Given the description of an element on the screen output the (x, y) to click on. 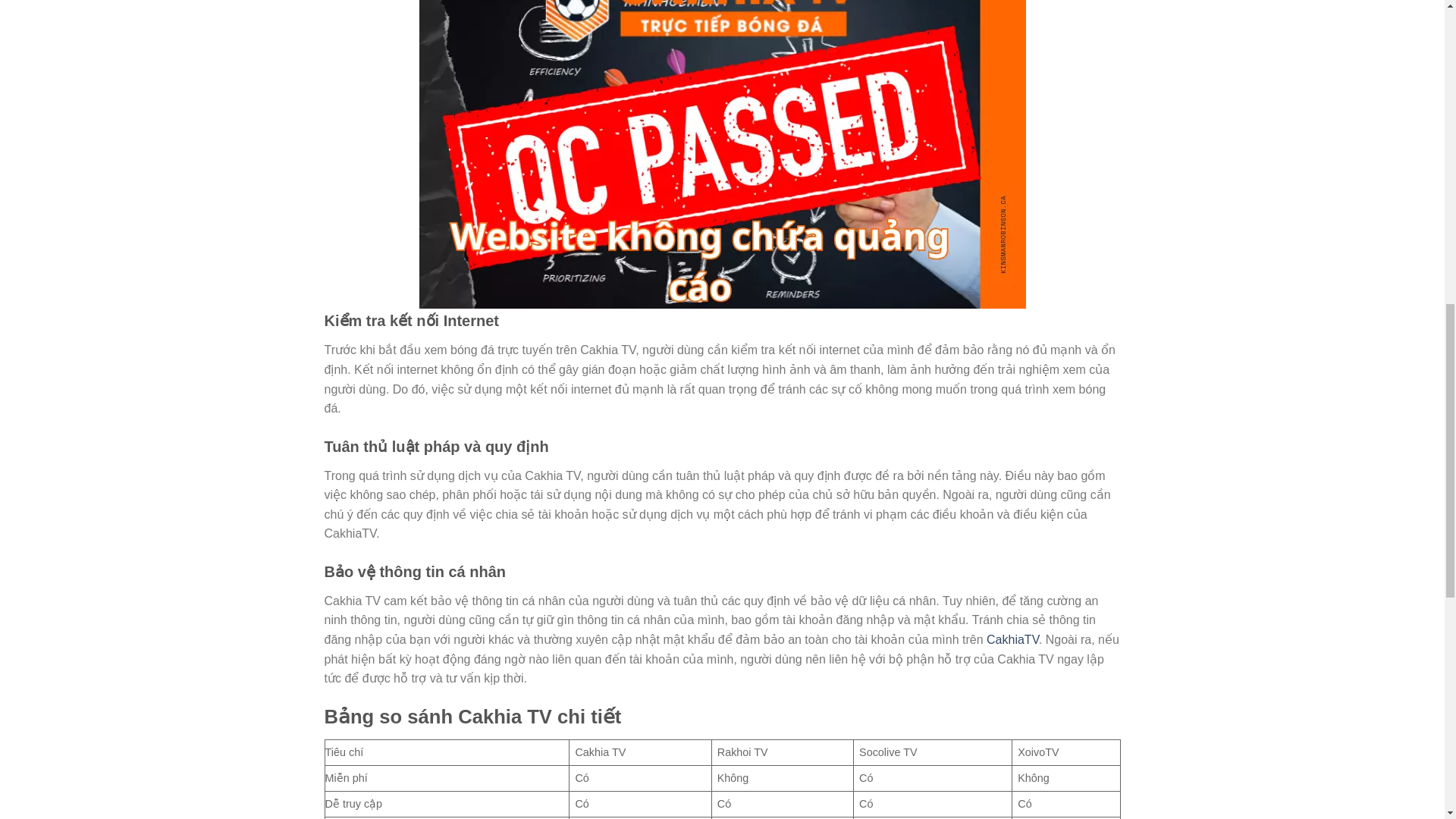
CakhiaTV (1013, 639)
